Given the description of an element on the screen output the (x, y) to click on. 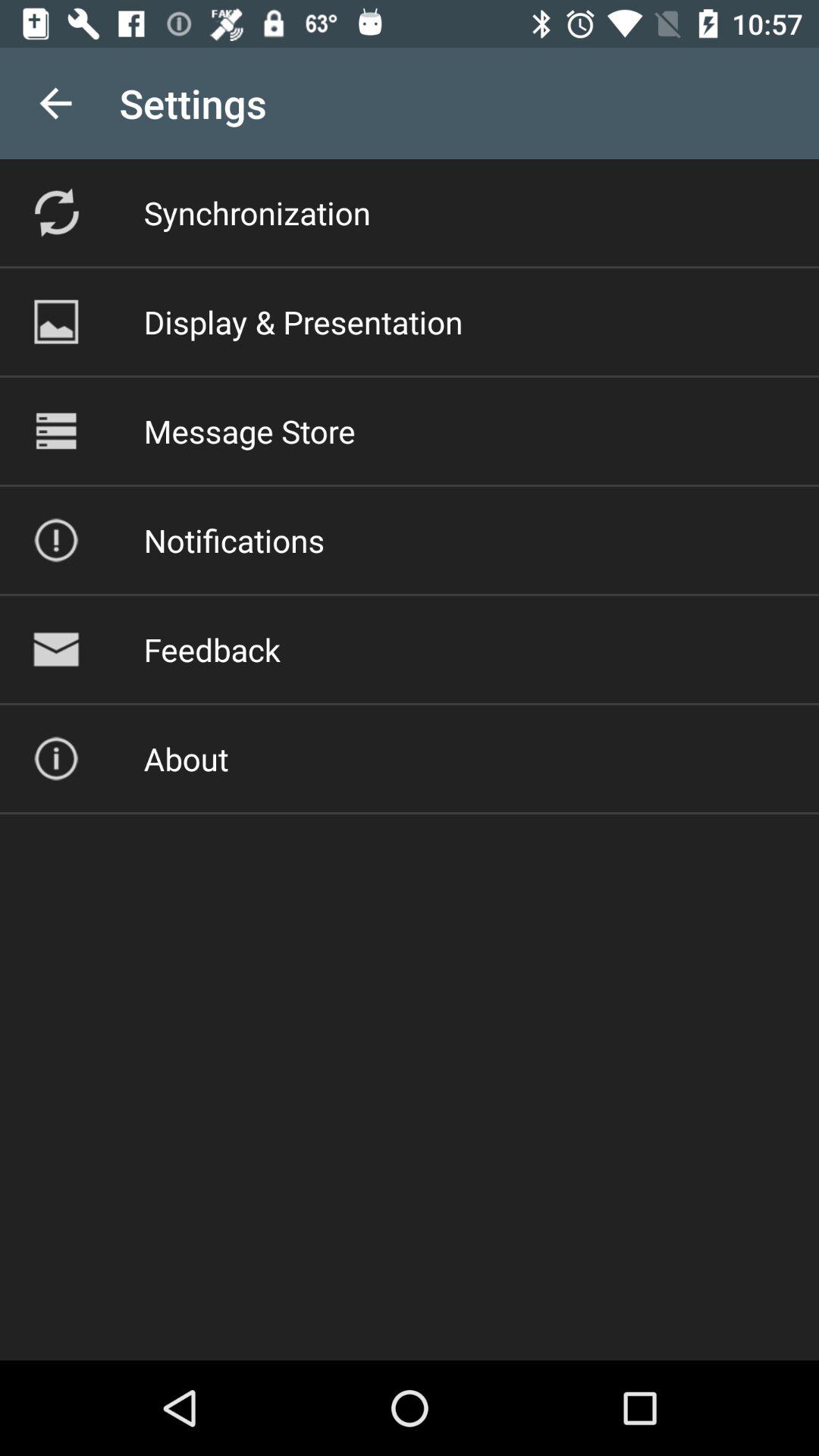
click item below feedback item (185, 758)
